Given the description of an element on the screen output the (x, y) to click on. 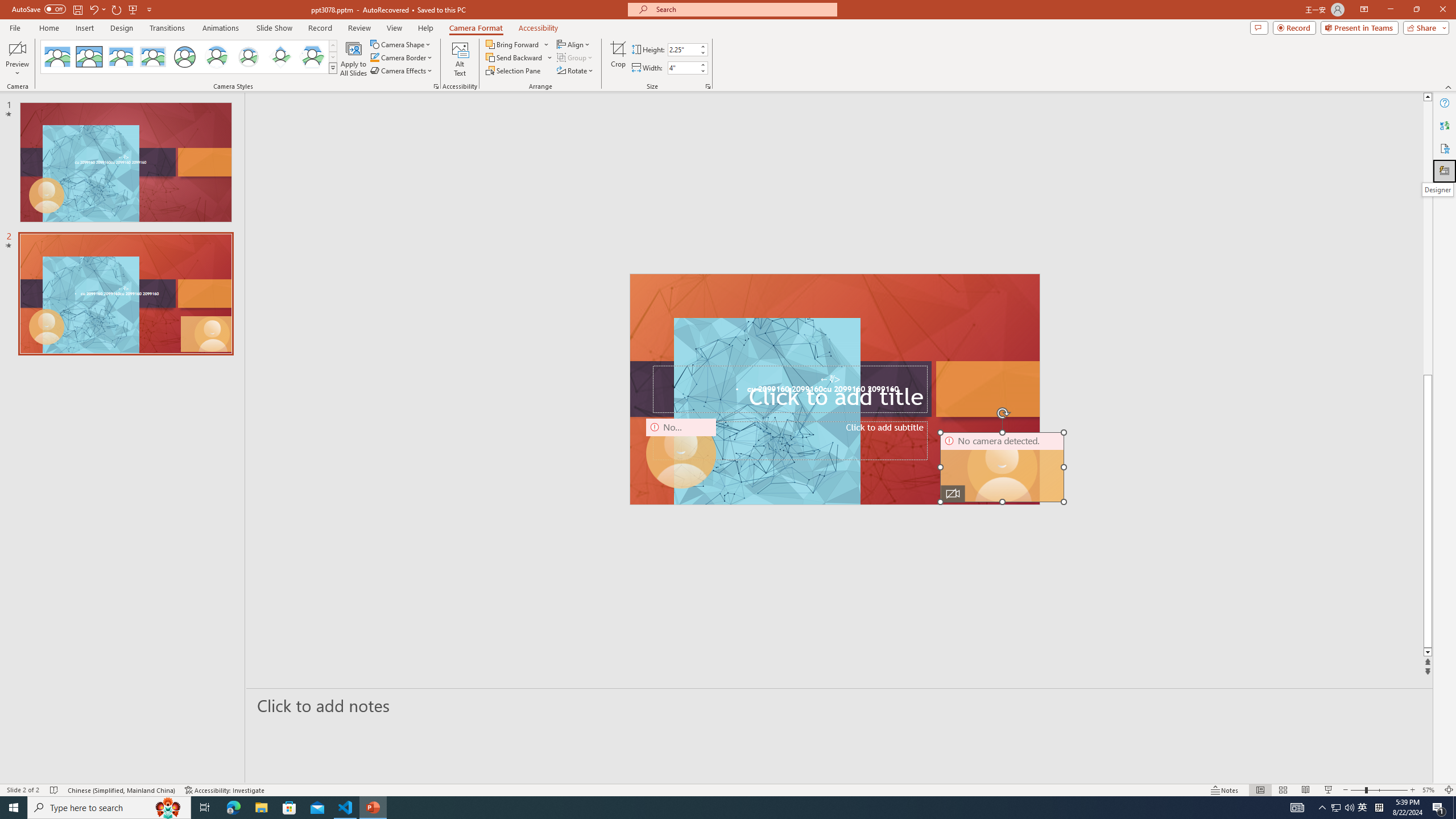
Camera Effects (402, 69)
Soft Edge Rectangle (152, 56)
Size and Position... (707, 85)
Enable Camera Preview (17, 48)
Simple Frame Circle (184, 56)
Camera Border (401, 56)
